Given the description of an element on the screen output the (x, y) to click on. 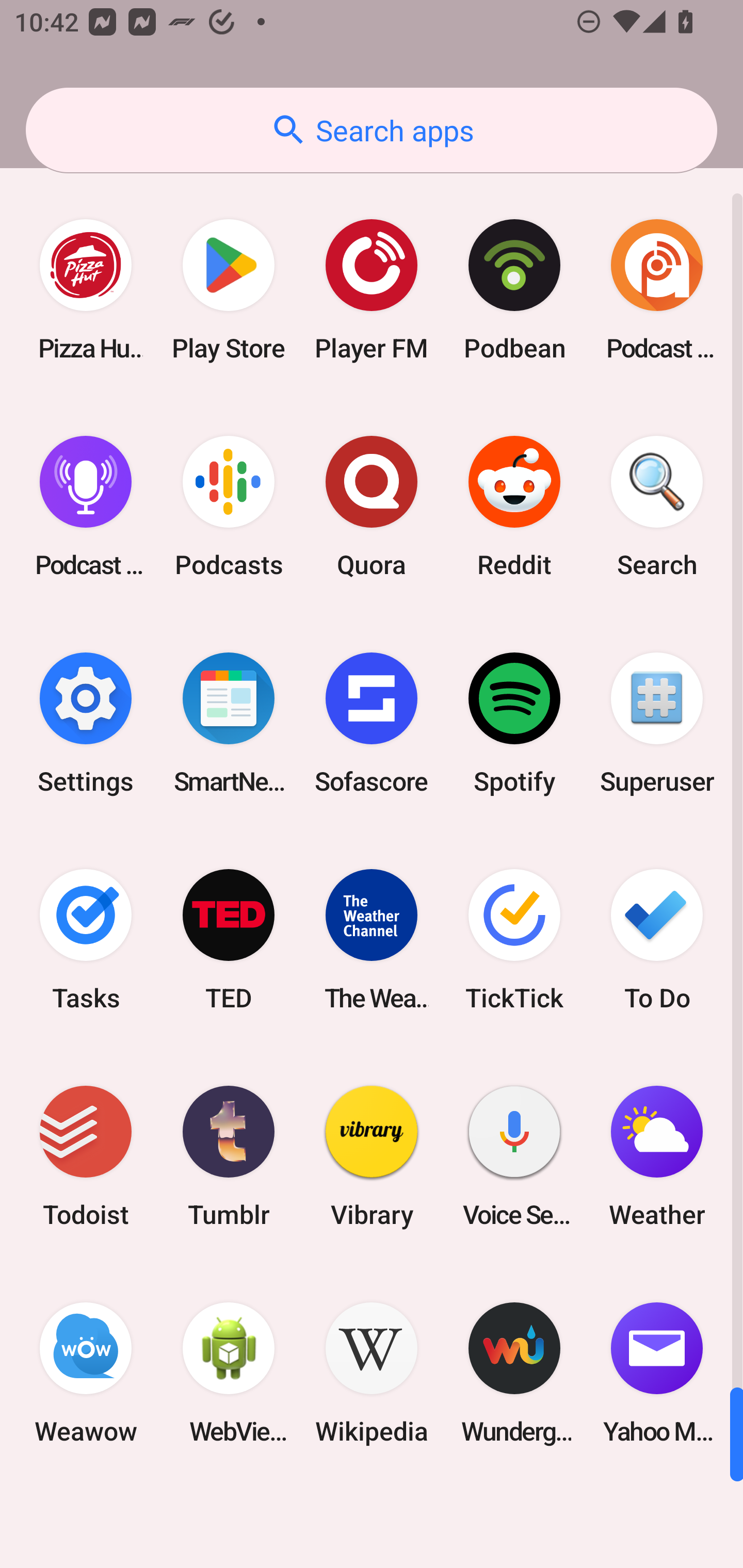
  Search apps (371, 130)
Pizza Hut HK & Macau (85, 289)
Play Store (228, 289)
Player FM (371, 289)
Podbean (514, 289)
Podcast Addict (656, 289)
Podcast Player (85, 506)
Podcasts (228, 506)
Quora (371, 506)
Reddit (514, 506)
Search (656, 506)
Settings (85, 722)
SmartNews (228, 722)
Sofascore (371, 722)
Spotify (514, 722)
Superuser (656, 722)
Tasks (85, 939)
TED (228, 939)
The Weather Channel (371, 939)
TickTick (514, 939)
To Do (656, 939)
Todoist (85, 1156)
Tumblr (228, 1156)
Vibrary (371, 1156)
Voice Search (514, 1156)
Weather (656, 1156)
Weawow (85, 1373)
WebView Browser Tester (228, 1373)
Wikipedia (371, 1373)
Wunderground (514, 1373)
Yahoo Mail (656, 1373)
